Given the description of an element on the screen output the (x, y) to click on. 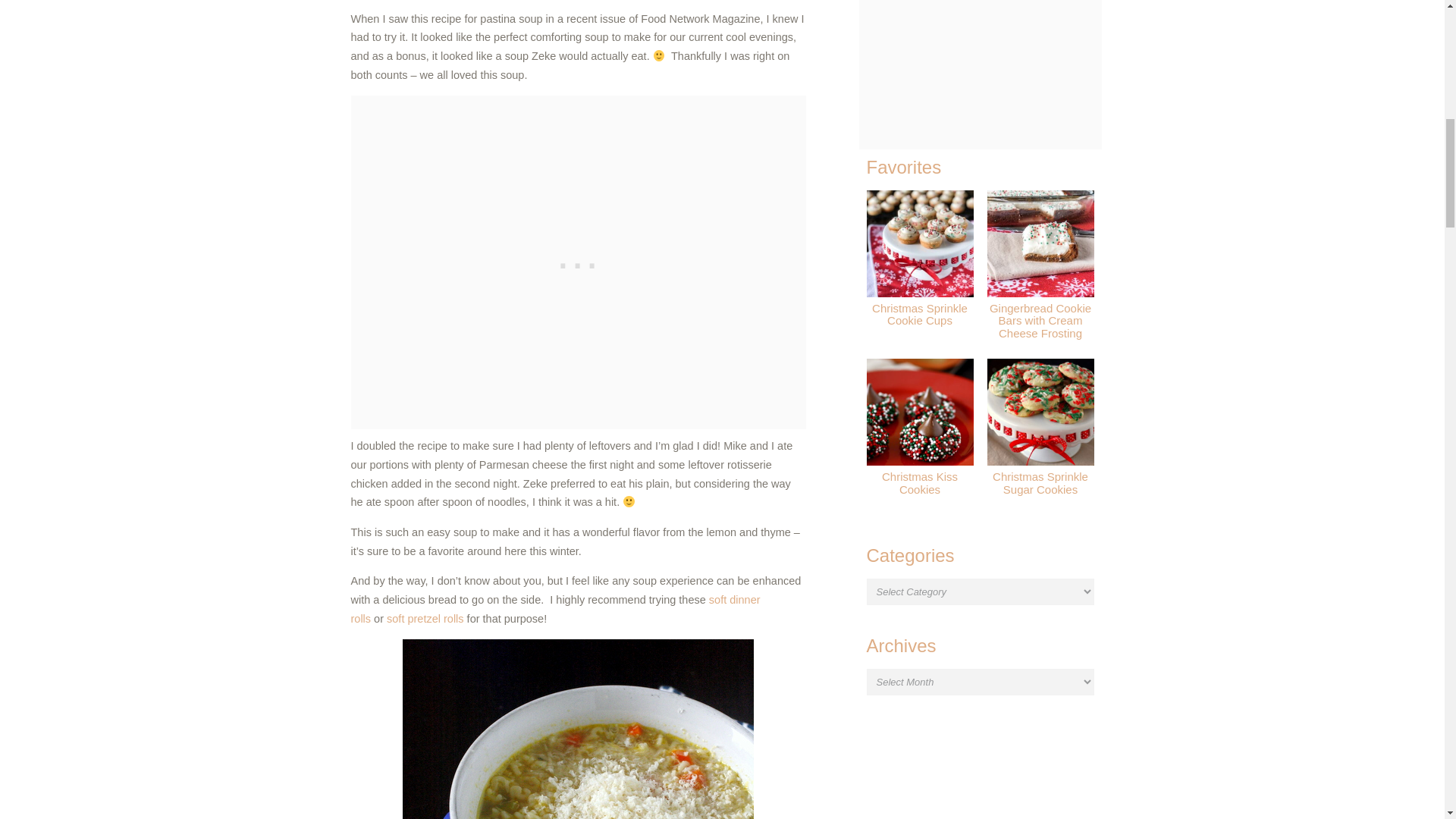
soft pretzel rolls (425, 618)
soft dinner rolls (555, 608)
